Given the description of an element on the screen output the (x, y) to click on. 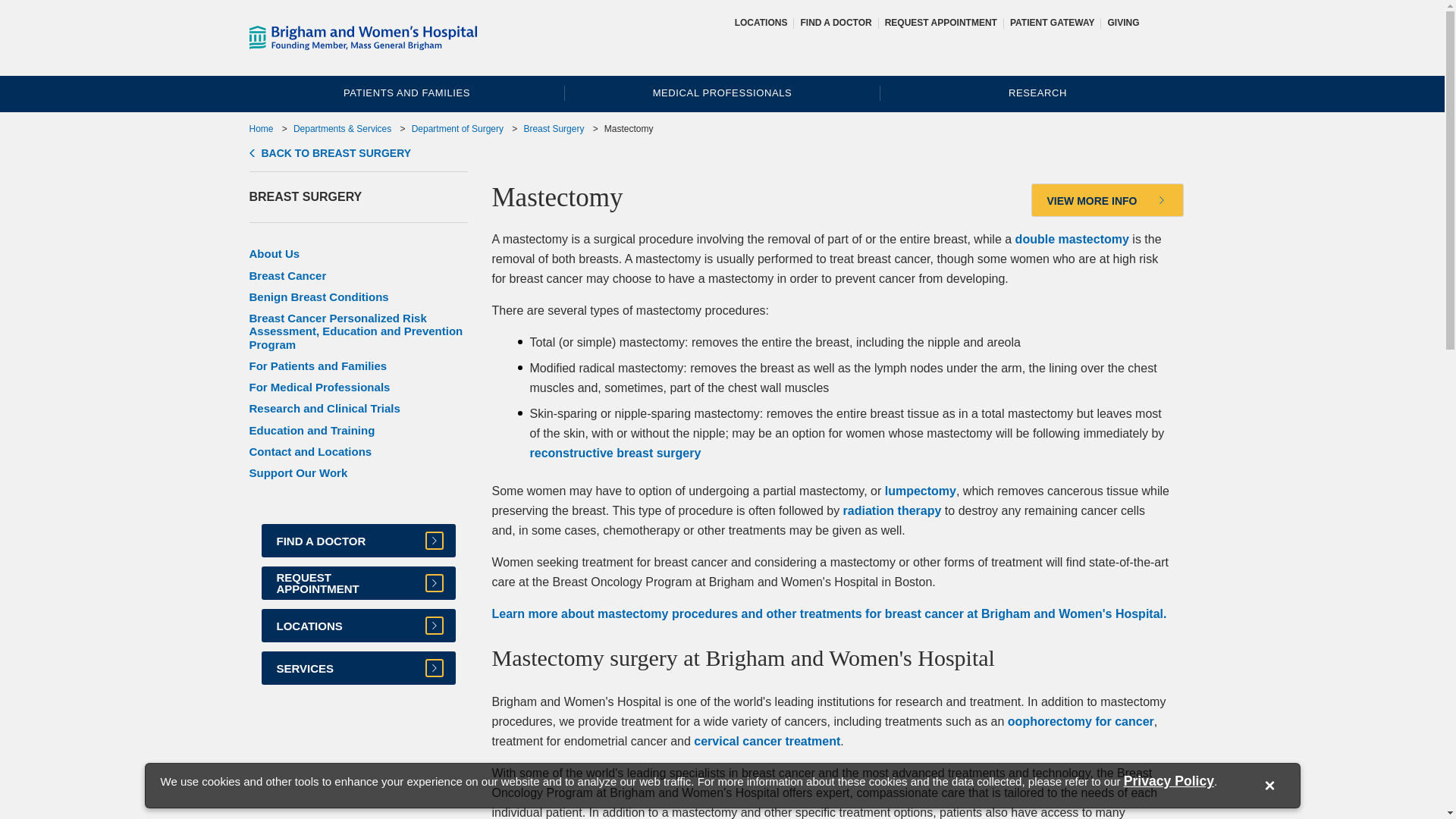
Department of Surgery (457, 128)
Home (260, 128)
FIND A DOCTOR (834, 22)
Breast Surgery (552, 128)
Information for Patients and Families (406, 93)
reconstructive breast surgery (614, 452)
Patient Gateway (1052, 22)
double mastectomy (1071, 238)
MEDICAL PROFESSIONALS (721, 93)
PATIENT GATEWAY (1052, 22)
